Given the description of an element on the screen output the (x, y) to click on. 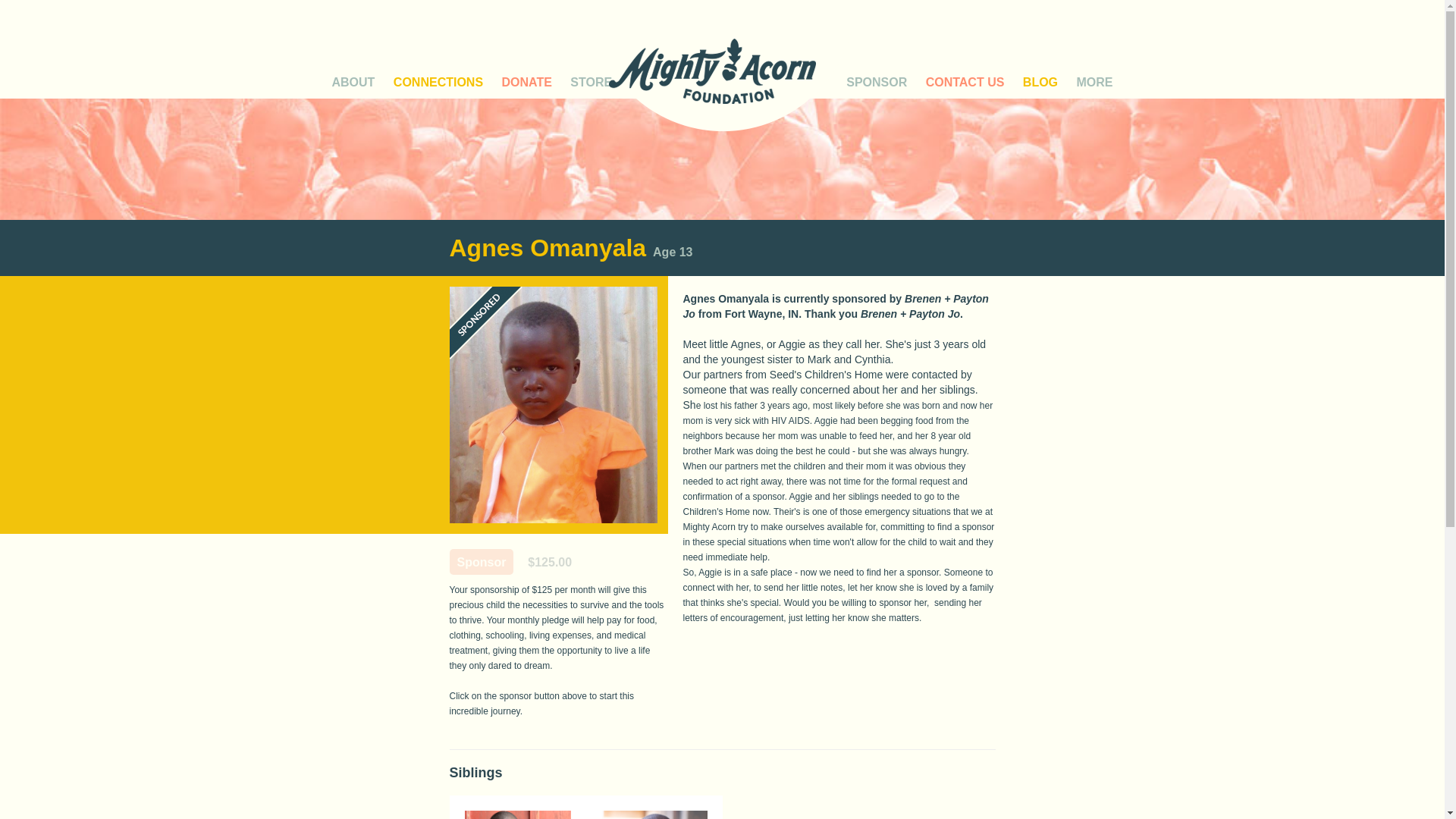
STORE (590, 82)
SPONSOR (876, 82)
CONNECTIONS (438, 82)
CONTACT US (965, 82)
DONATE (526, 82)
MORE (1095, 82)
ABOUT (353, 82)
BLOG (1040, 82)
